Given the description of an element on the screen output the (x, y) to click on. 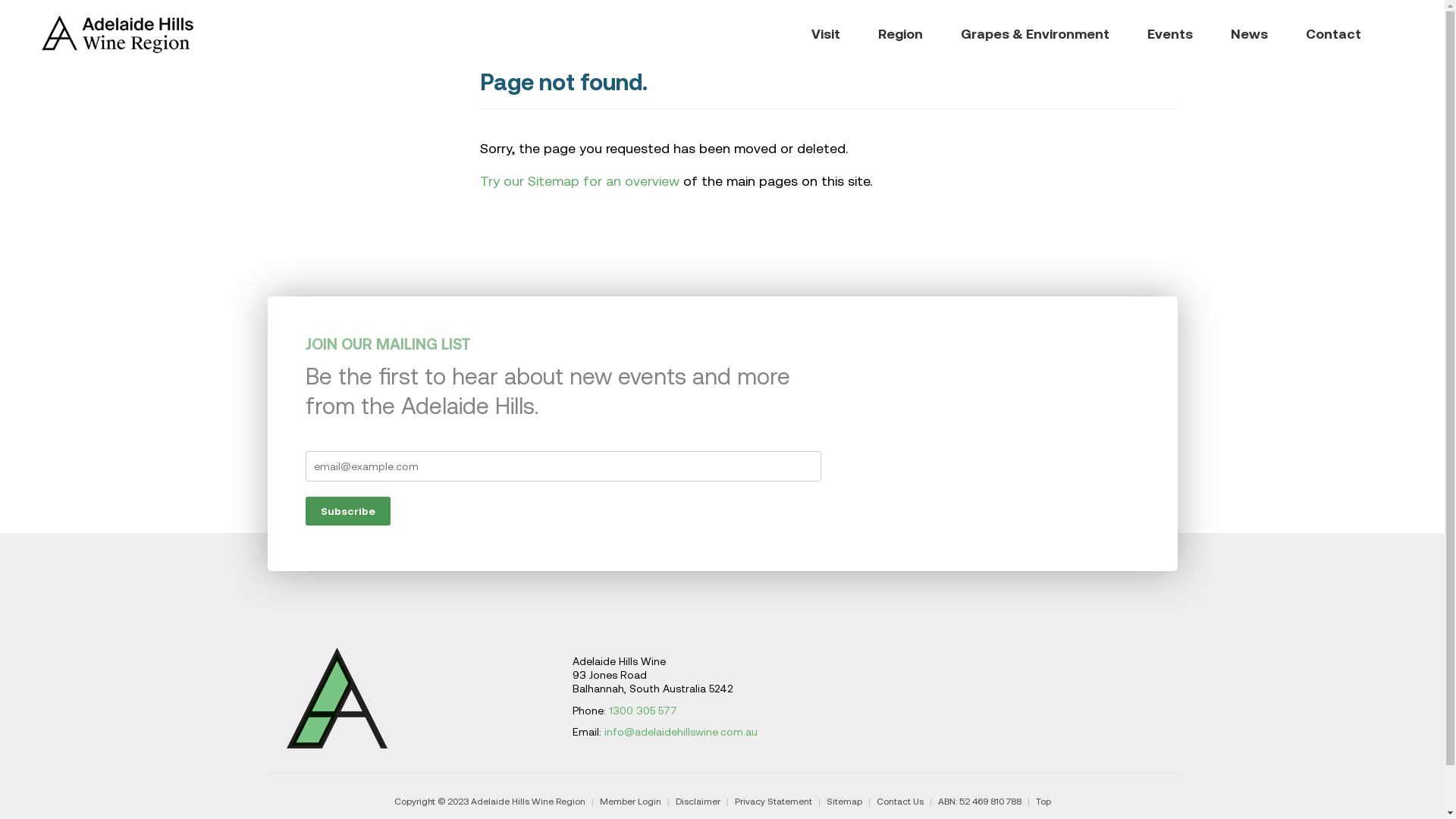
info@adelaidehillswine.com.au Element type: text (679, 731)
Subscribe Element type: text (346, 510)
News Element type: text (1248, 34)
Try our Sitemap for an overview Element type: text (578, 180)
Member Login Element type: text (629, 801)
Members login Element type: hover (1402, 34)
Contact Us Element type: text (899, 801)
Top Element type: text (1043, 801)
Visit Element type: text (825, 34)
Events Element type: text (1169, 34)
Privacy Statement Element type: text (772, 801)
Region Element type: text (900, 34)
Contact Element type: text (1333, 34)
Sitemap Element type: text (844, 801)
1300 305 577 Element type: text (642, 710)
Disclaimer Element type: text (696, 801)
Grapes & Environment Element type: text (1034, 34)
